Given the description of an element on the screen output the (x, y) to click on. 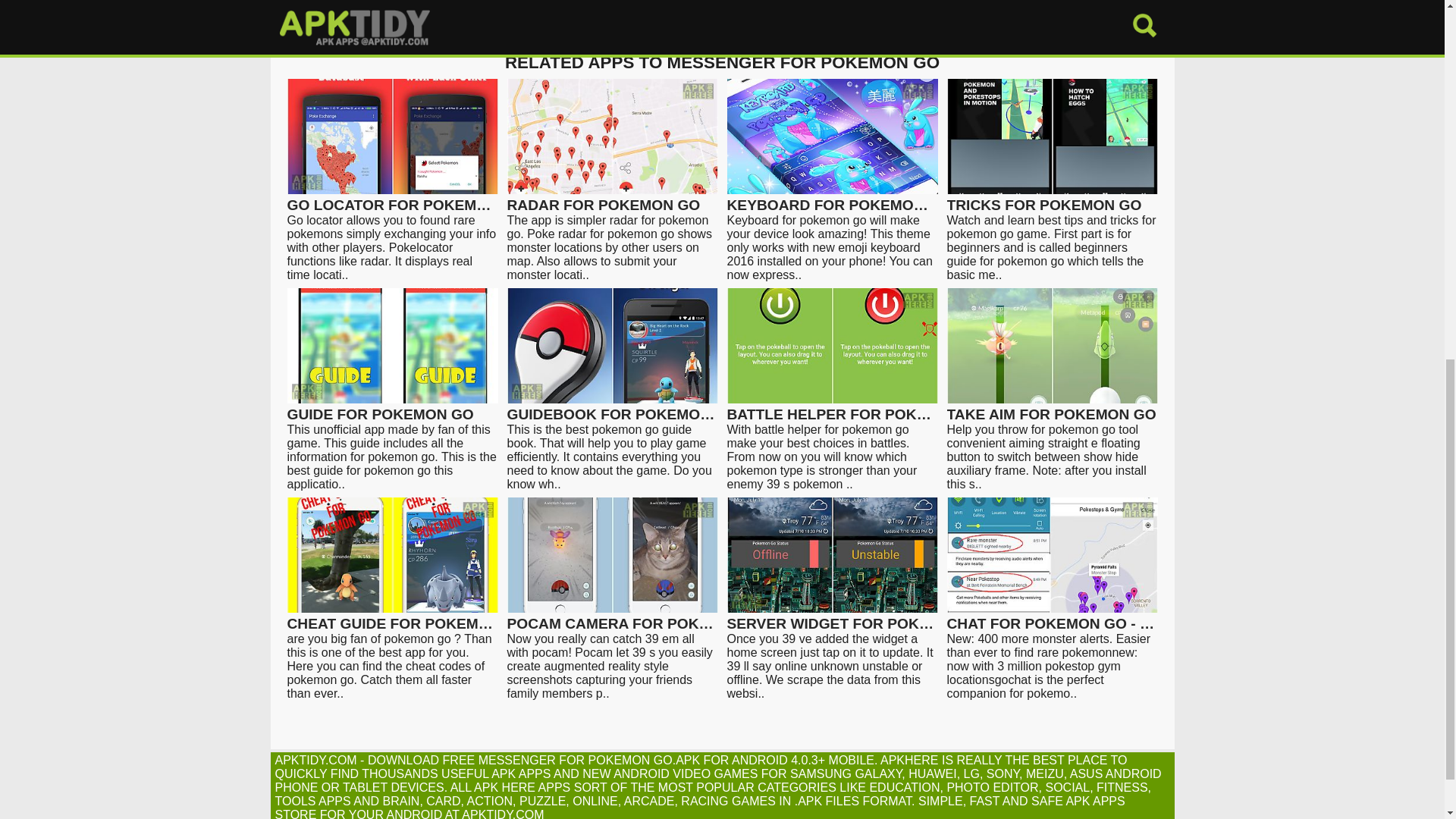
CHAT FOR POKEMON GO - GOCHAT (1051, 616)
SERVER WIDGET FOR POKEMON GO (831, 616)
GUIDEBOOK FOR POKEMON GO (611, 408)
GO LOCATOR FOR POKEMON GO (391, 198)
TRICKS FOR POKEMON GO (1051, 198)
RADAR FOR POKEMON GO (611, 198)
POCAM CAMERA FOR POKEMON GO (611, 616)
CHEAT GUIDE FOR POKEMON GO (391, 616)
BATTLE HELPER FOR POKEMON GO (831, 408)
KEYBOARD FOR POKEMON GO (831, 198)
GUIDE FOR POKEMON GO (391, 408)
TAKE AIM FOR POKEMON GO (1051, 408)
